Given the description of an element on the screen output the (x, y) to click on. 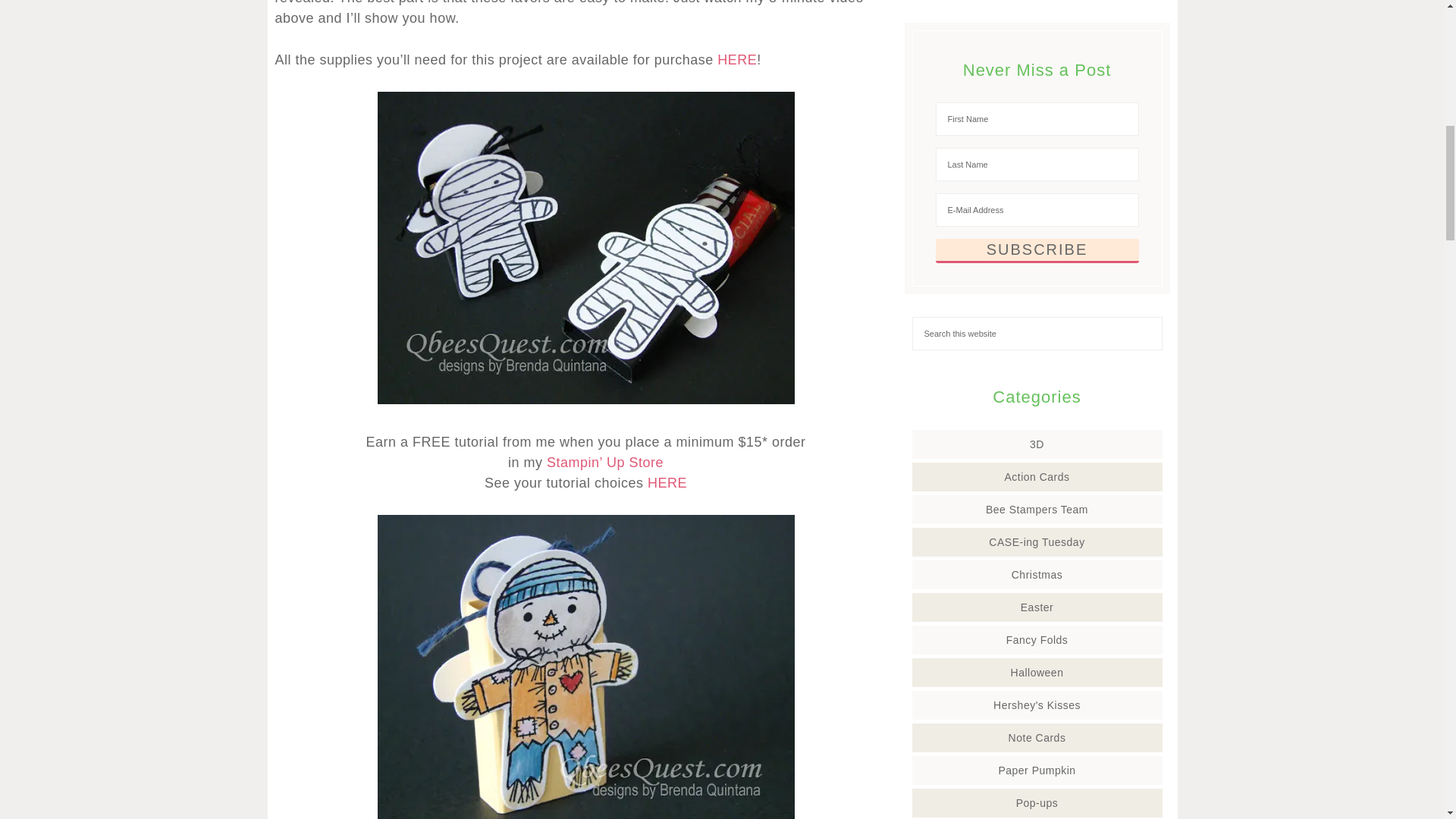
HERE (737, 59)
HERE (667, 482)
Subscribe (1037, 250)
